Given the description of an element on the screen output the (x, y) to click on. 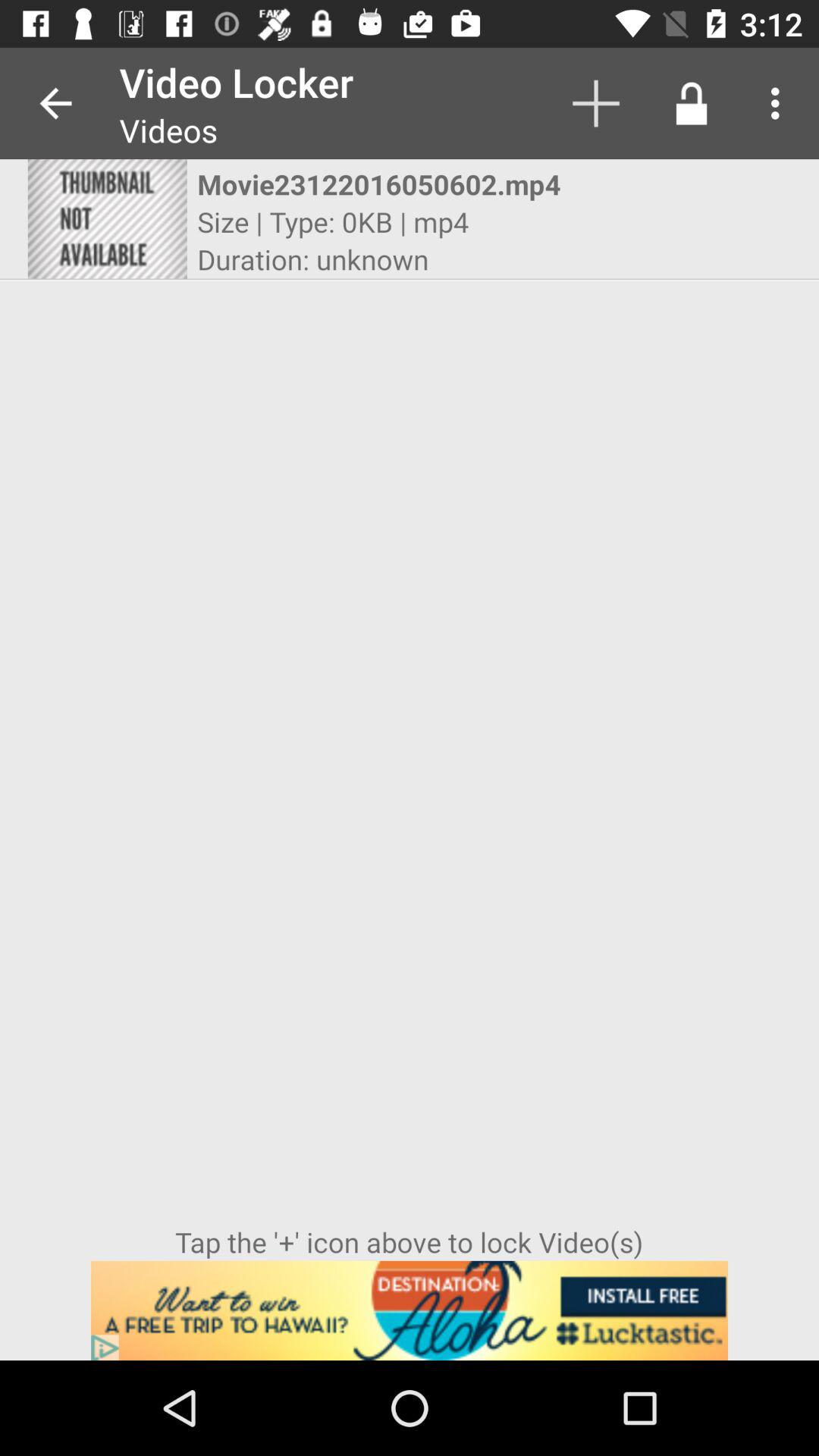
turn on the size type 0kb icon (333, 221)
